Given the description of an element on the screen output the (x, y) to click on. 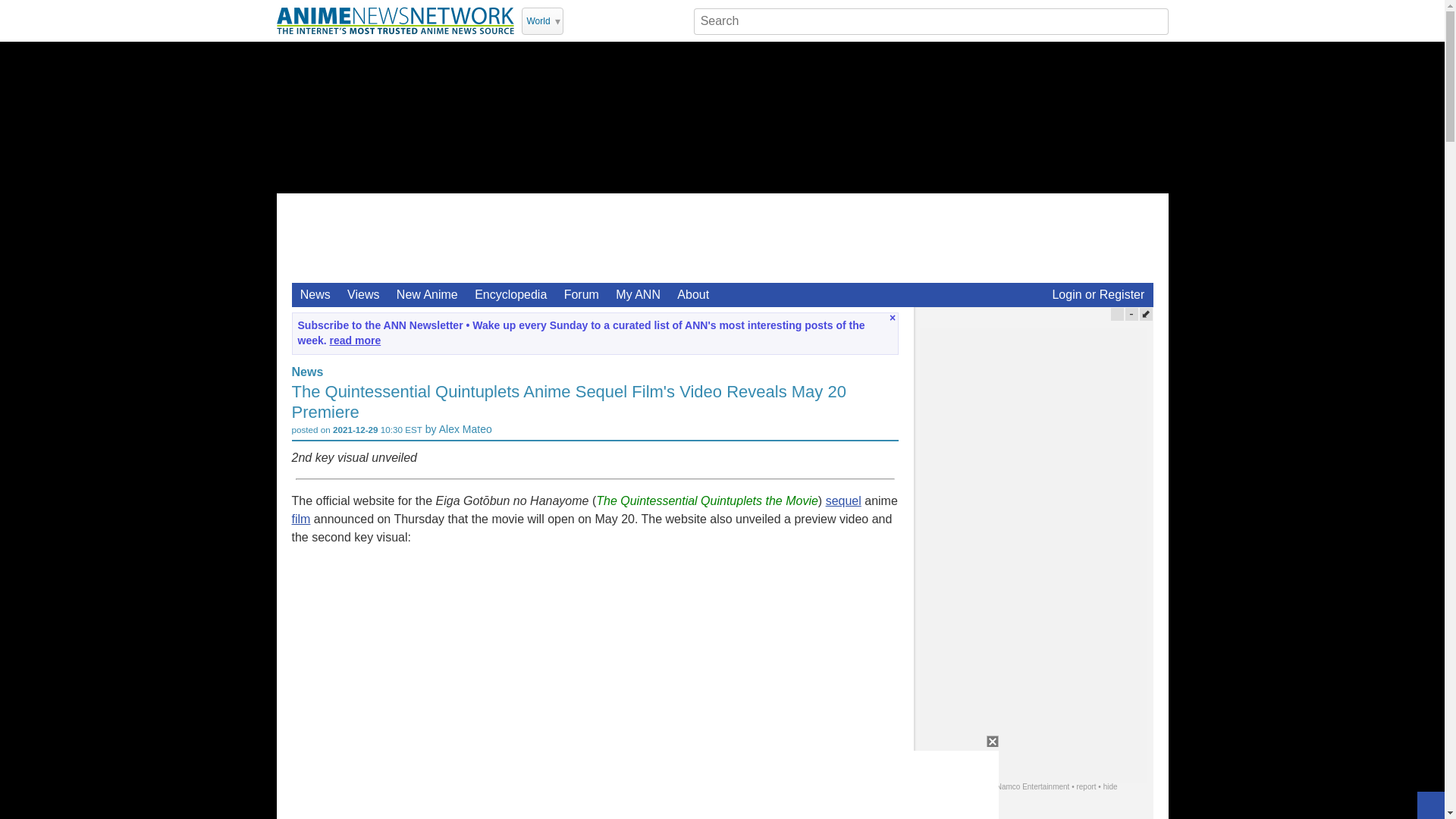
Facebook (617, 20)
Bluesky (675, 20)
Instagram (636, 20)
Twitter (577, 20)
Return to Homepage (394, 20)
Choose Your Edition (542, 21)
Youtube (597, 20)
TikTok (656, 20)
